Given the description of an element on the screen output the (x, y) to click on. 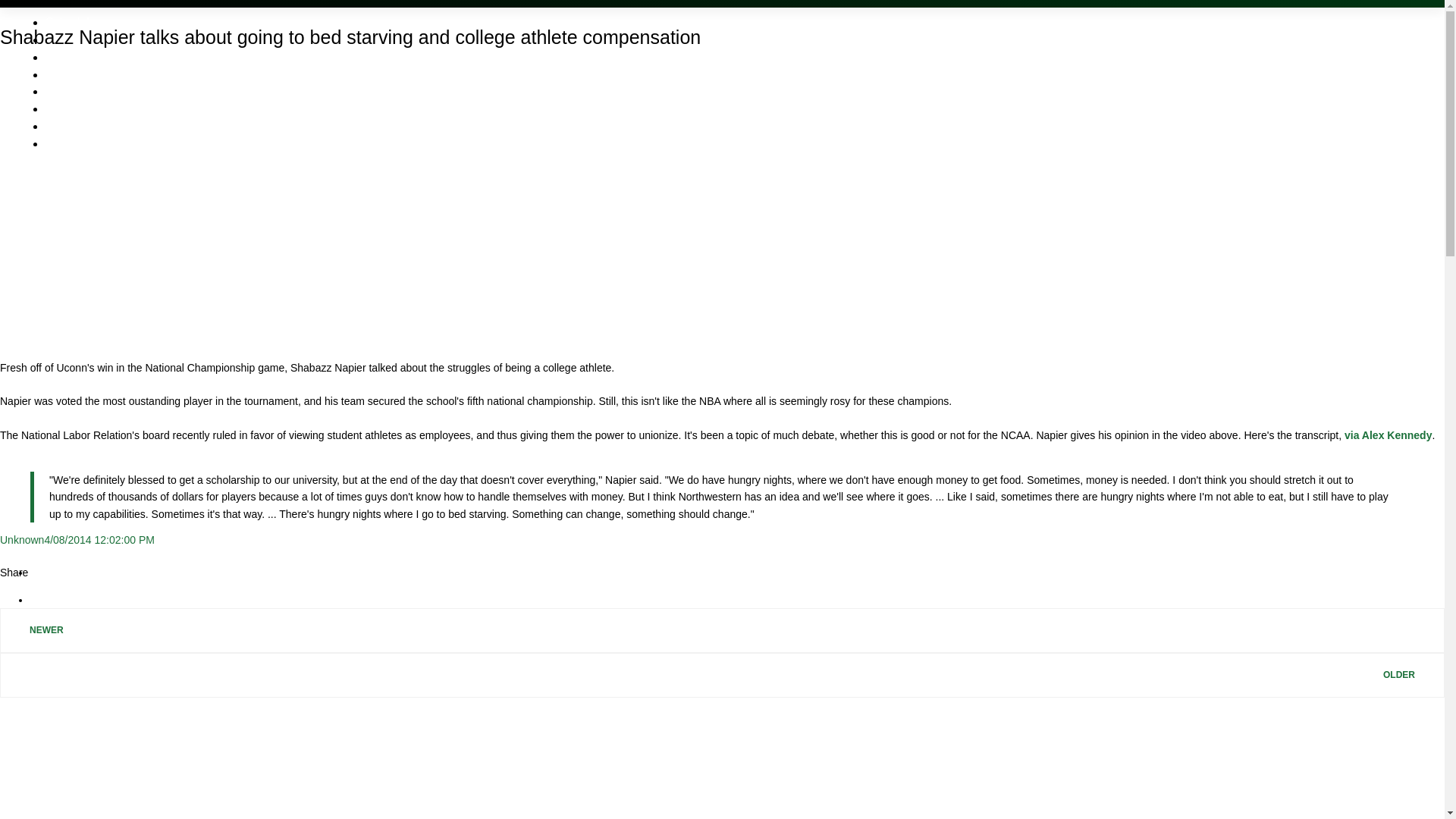
Advertisement (721, 758)
Store (59, 91)
Comments (74, 74)
Unknown (21, 539)
Schedule (70, 21)
via Alex Kennedy (1387, 435)
Tickets (63, 39)
author profile (21, 539)
Features (69, 56)
permanent link (98, 539)
